Given the description of an element on the screen output the (x, y) to click on. 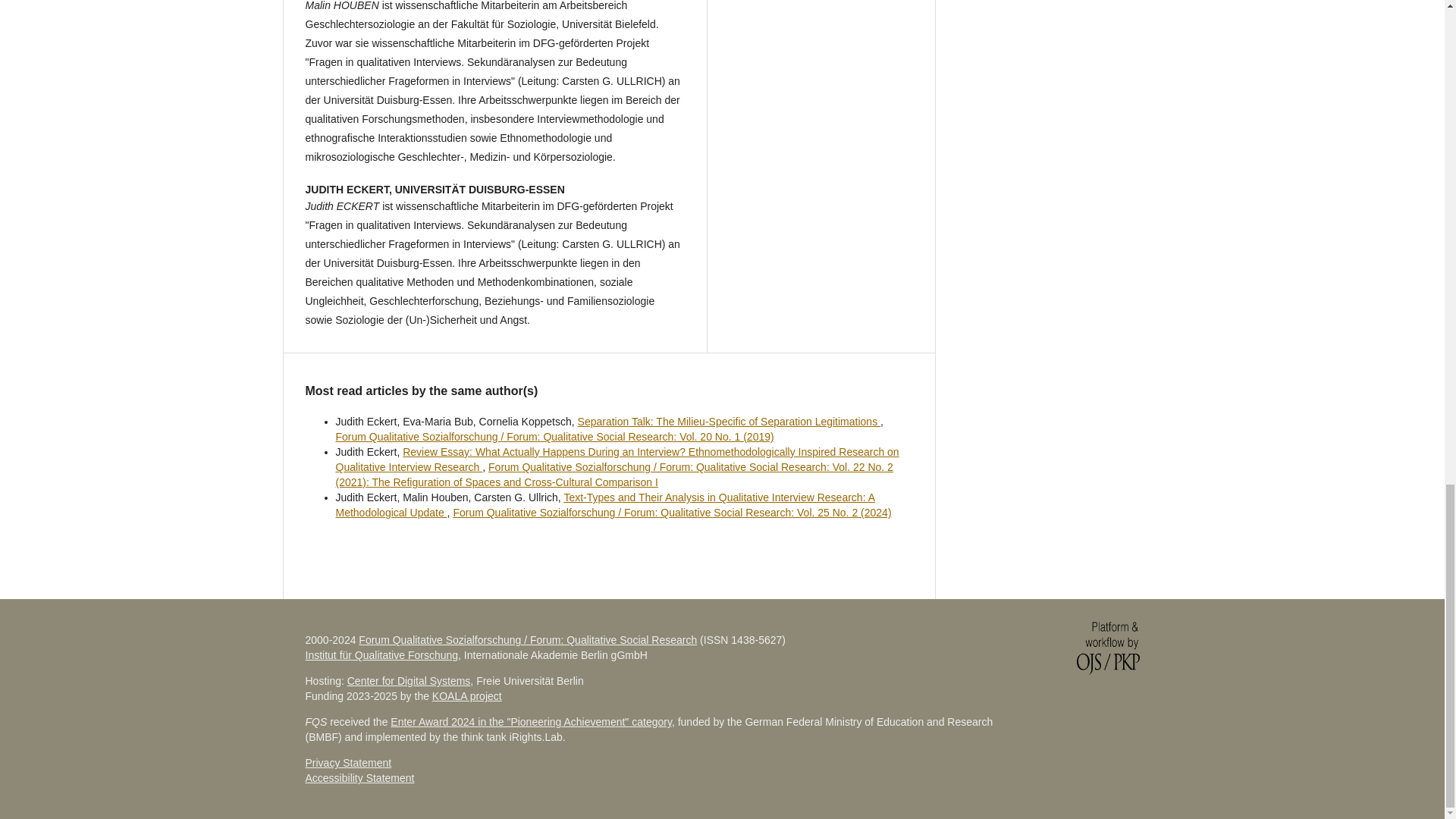
Enter-Award (530, 721)
